Given the description of an element on the screen output the (x, y) to click on. 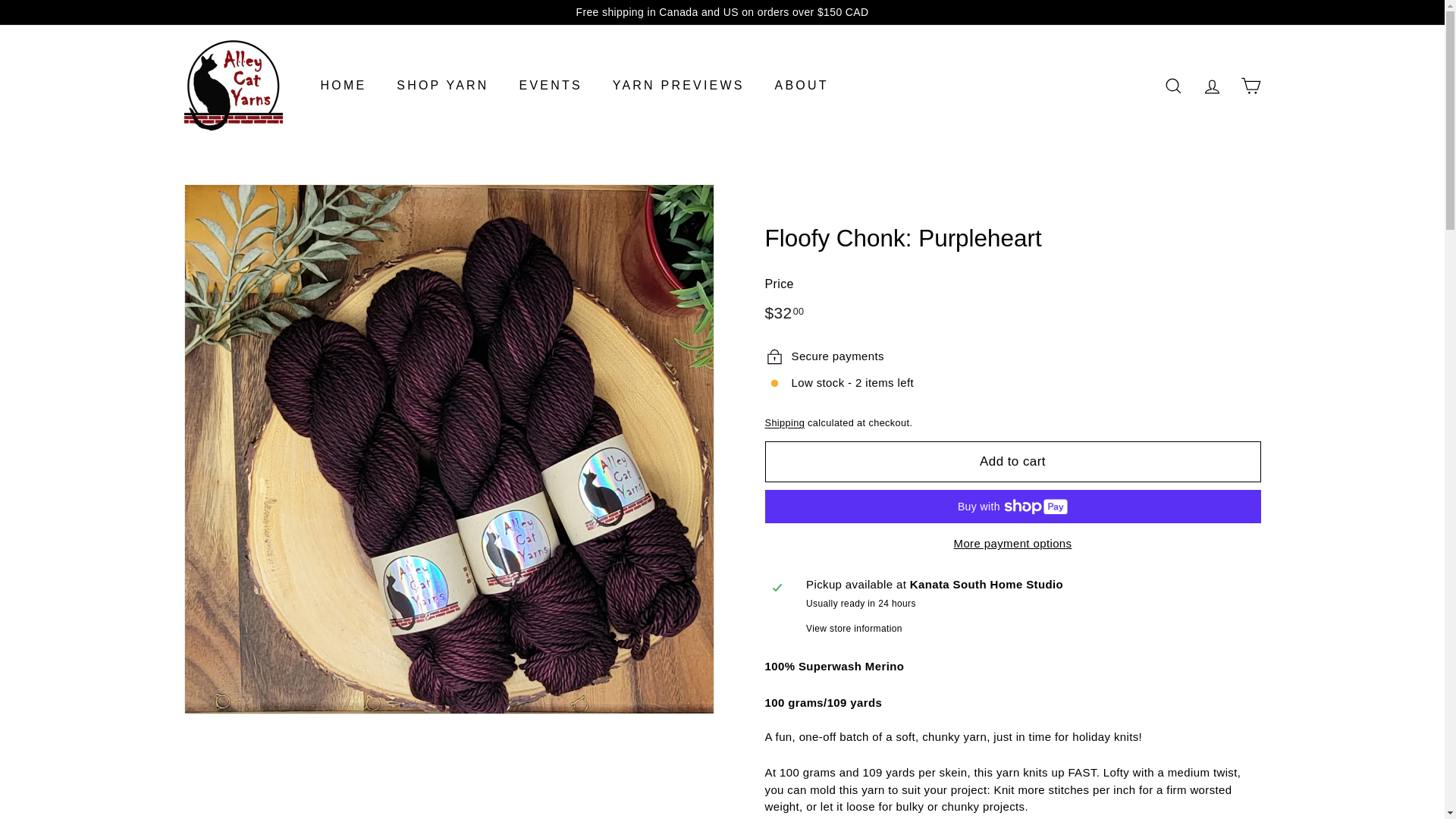
EVENTS (549, 85)
SHOP YARN (442, 85)
Add to cart (1012, 461)
YARN PREVIEWS (678, 85)
ABOUT (802, 85)
More payment options (1012, 543)
Shipping (784, 422)
HOME (342, 85)
